Given the description of an element on the screen output the (x, y) to click on. 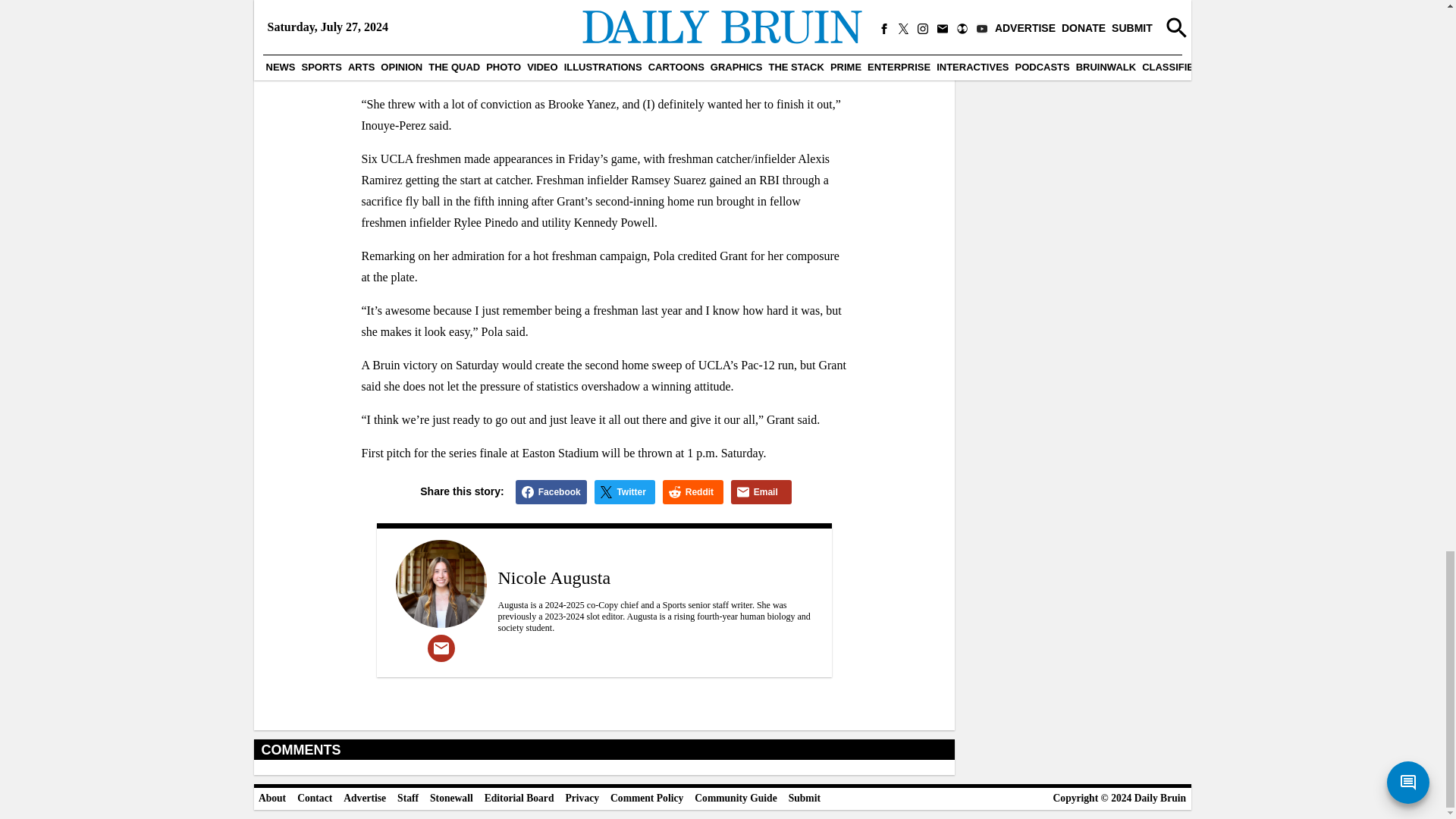
Email (761, 491)
Reddit (692, 491)
Twitter (624, 491)
Facebook (550, 491)
